Given the description of an element on the screen output the (x, y) to click on. 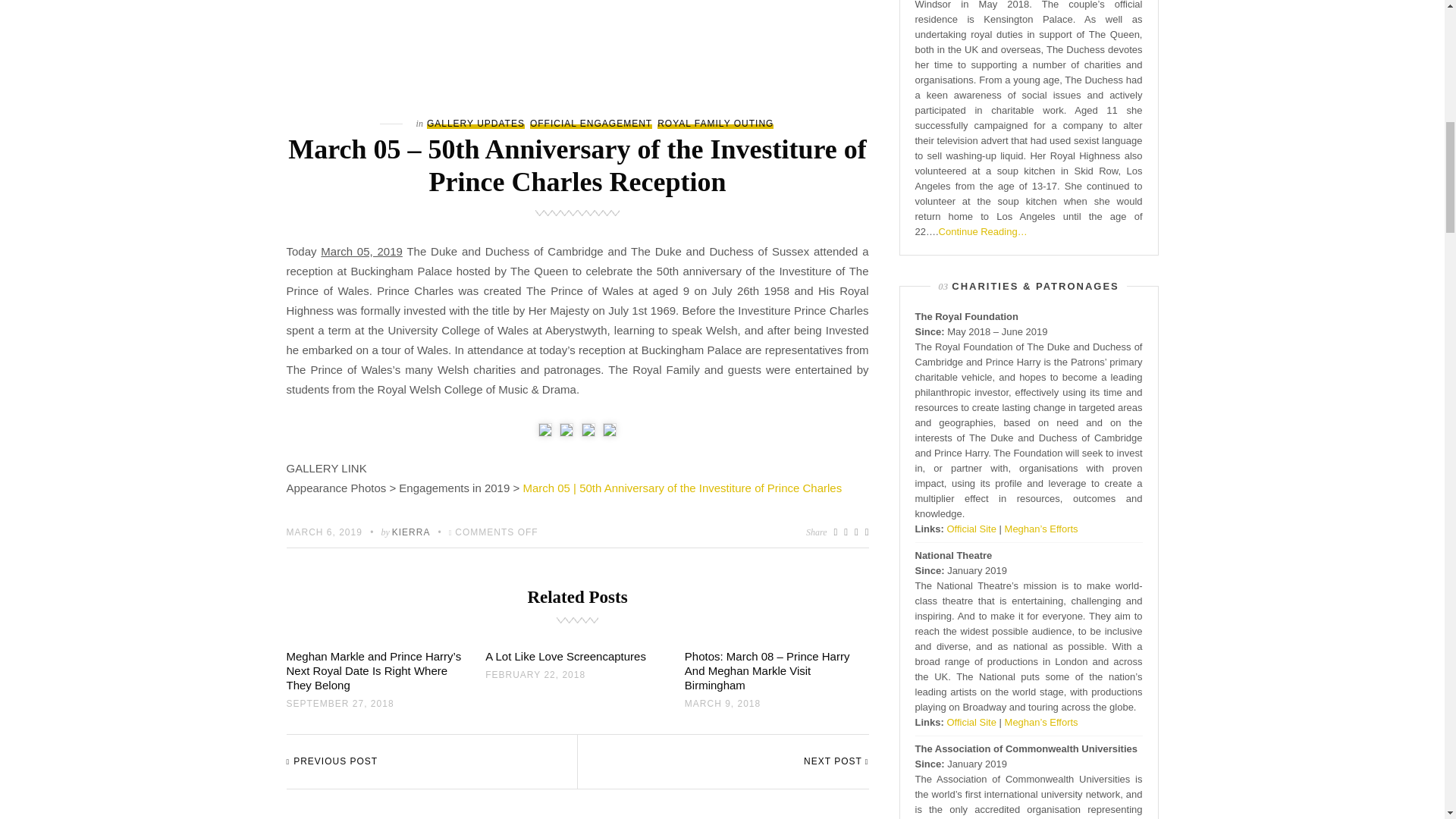
ROYAL FAMILY OUTING (715, 122)
NEXT POST (835, 760)
GALLERY UPDATES (475, 122)
OFFICIAL ENGAGEMENT (590, 122)
PREVIOUS POST (332, 760)
Official Site (970, 528)
A Lot Like Love Screencaptures (565, 656)
KIERRA (410, 532)
